Given the description of an element on the screen output the (x, y) to click on. 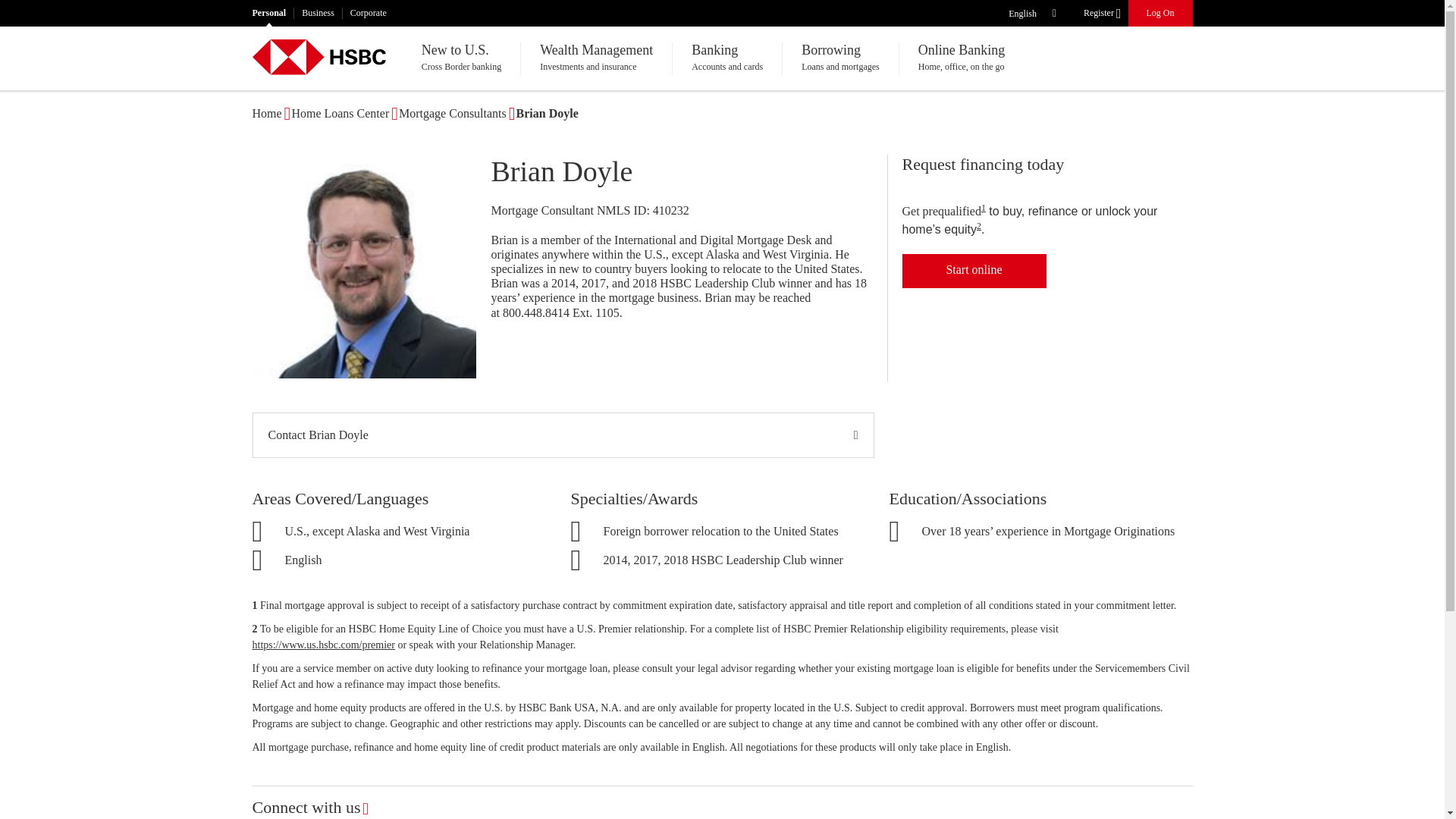
Register   (1100, 13)
Personal (269, 12)
Business (318, 12)
Log On (1160, 13)
Corporate (368, 12)
